Given the description of an element on the screen output the (x, y) to click on. 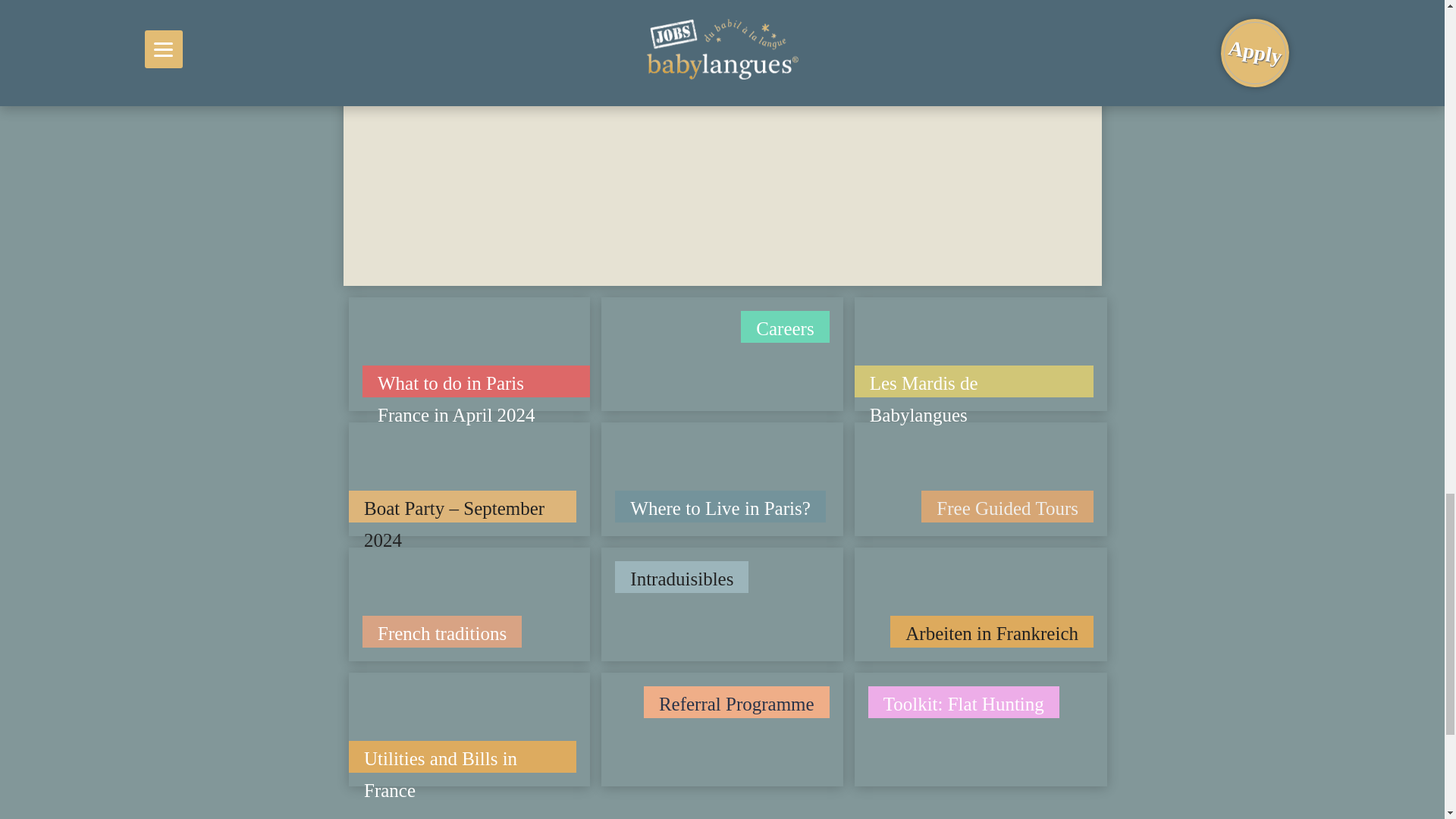
facebook (390, 201)
twitter (462, 201)
pinterest (427, 201)
linkedin (498, 201)
